Given the description of an element on the screen output the (x, y) to click on. 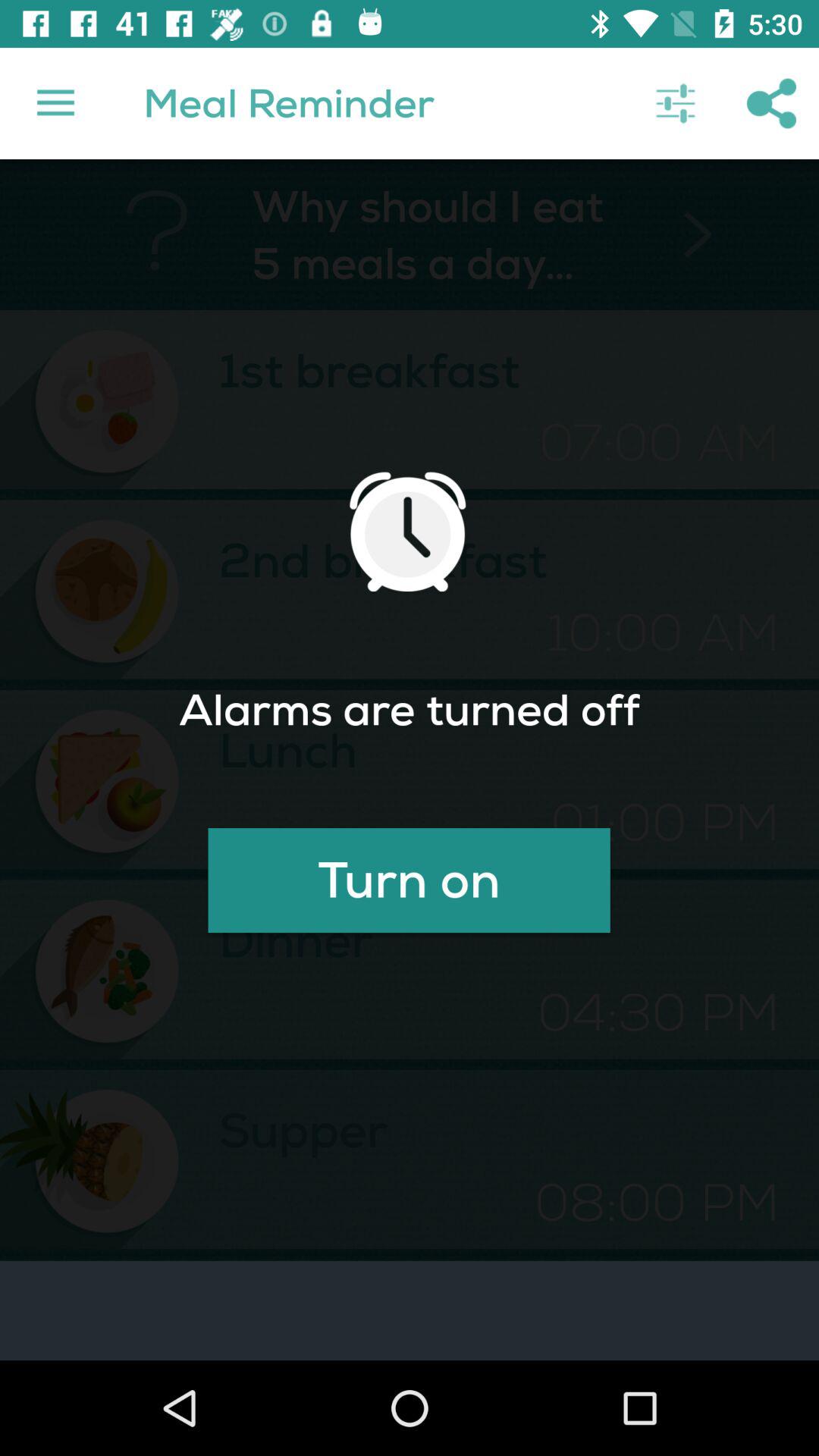
click the icon to the right of the meal reminder icon (675, 103)
